Given the description of an element on the screen output the (x, y) to click on. 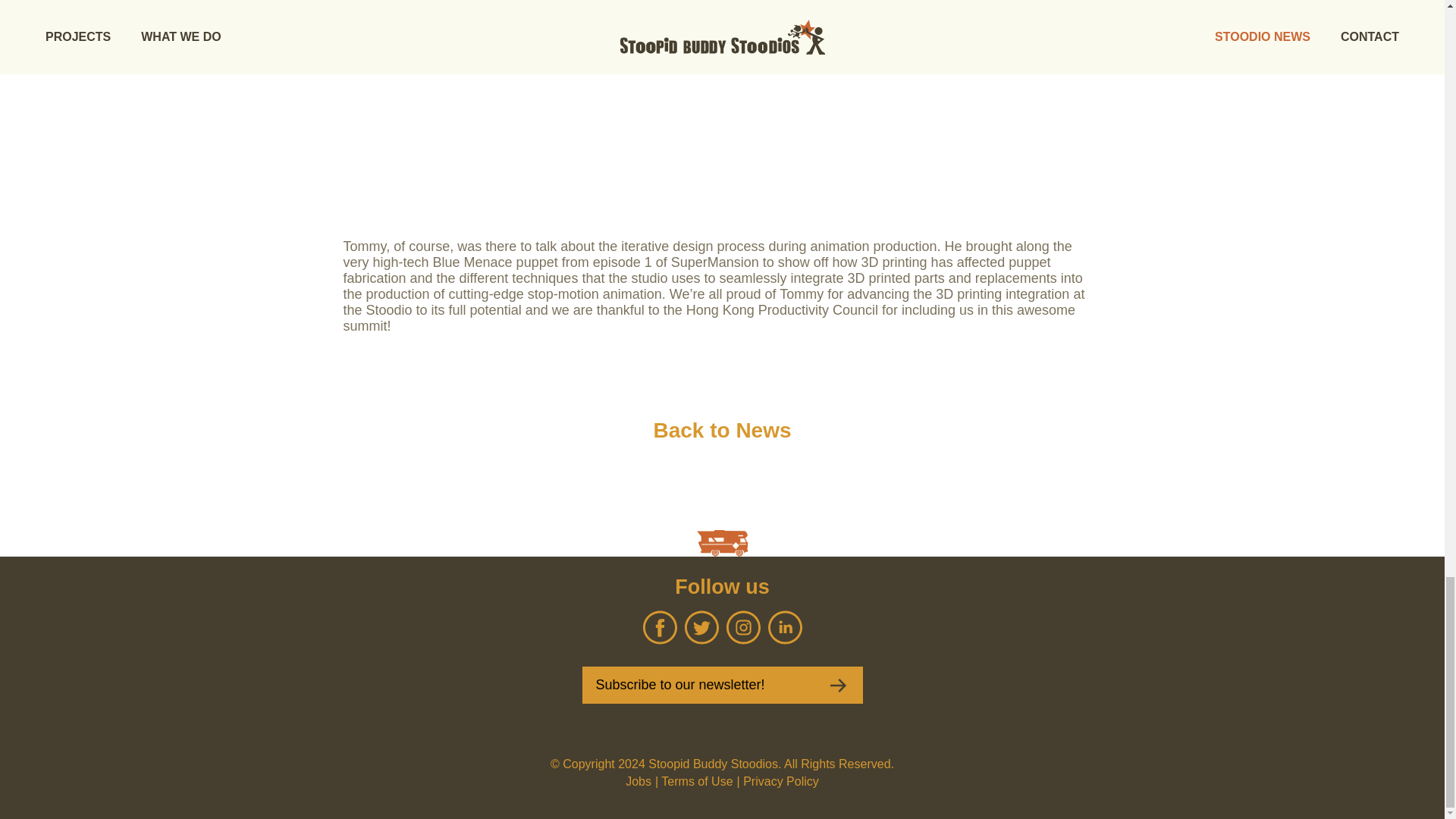
Jobs (638, 780)
Back to News (721, 430)
Privacy Policy (780, 780)
Terms of Use (696, 780)
